Given the description of an element on the screen output the (x, y) to click on. 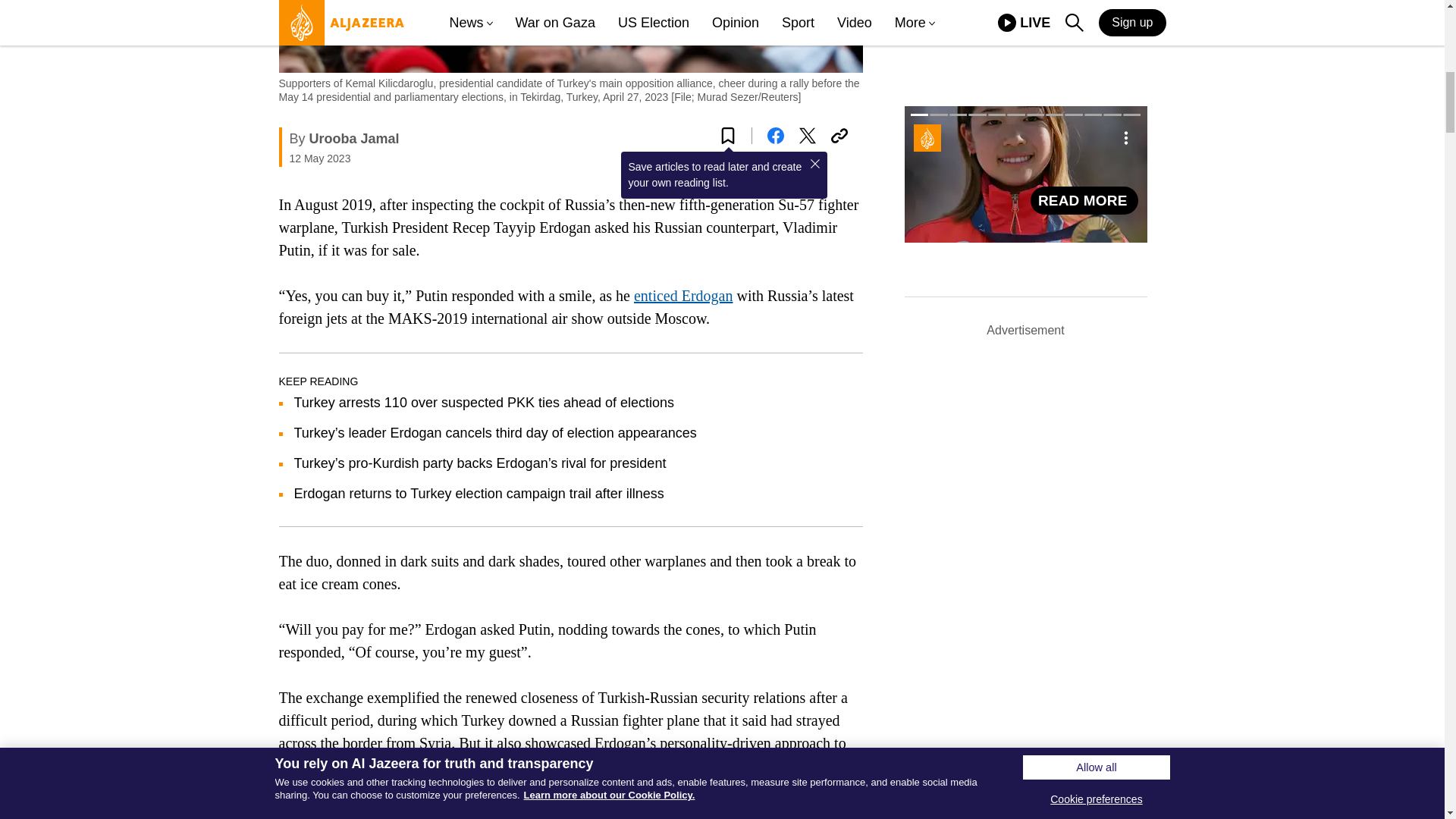
copylink (839, 135)
Close Tooltip (814, 163)
Urooba Jamal (353, 138)
facebook (775, 135)
twitter (807, 135)
facebook (775, 135)
twitter (807, 135)
copylink (839, 135)
